Given the description of an element on the screen output the (x, y) to click on. 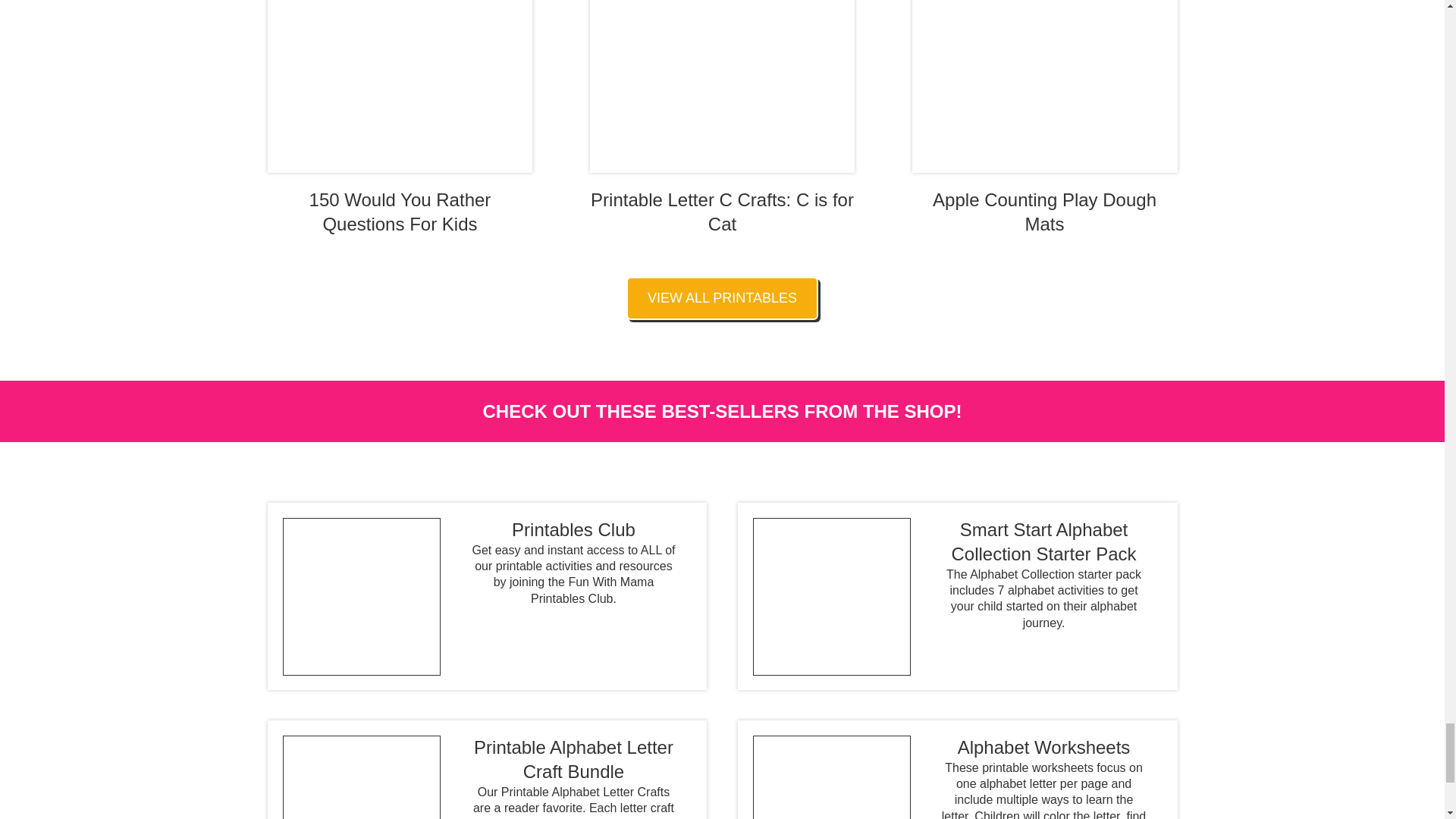
Permanent Link to Printable Letter C Crafts: C is for Cat (722, 118)
Permanent Link to Printables Club (479, 561)
Permanent Link to Apple Counting Play Dough Mats (1044, 118)
Permanent Link to Printable Alphabet Letter Craft Bundle (479, 777)
Permanent Link to 150 Would You Rather Questions For Kids (399, 118)
